Given the description of an element on the screen output the (x, y) to click on. 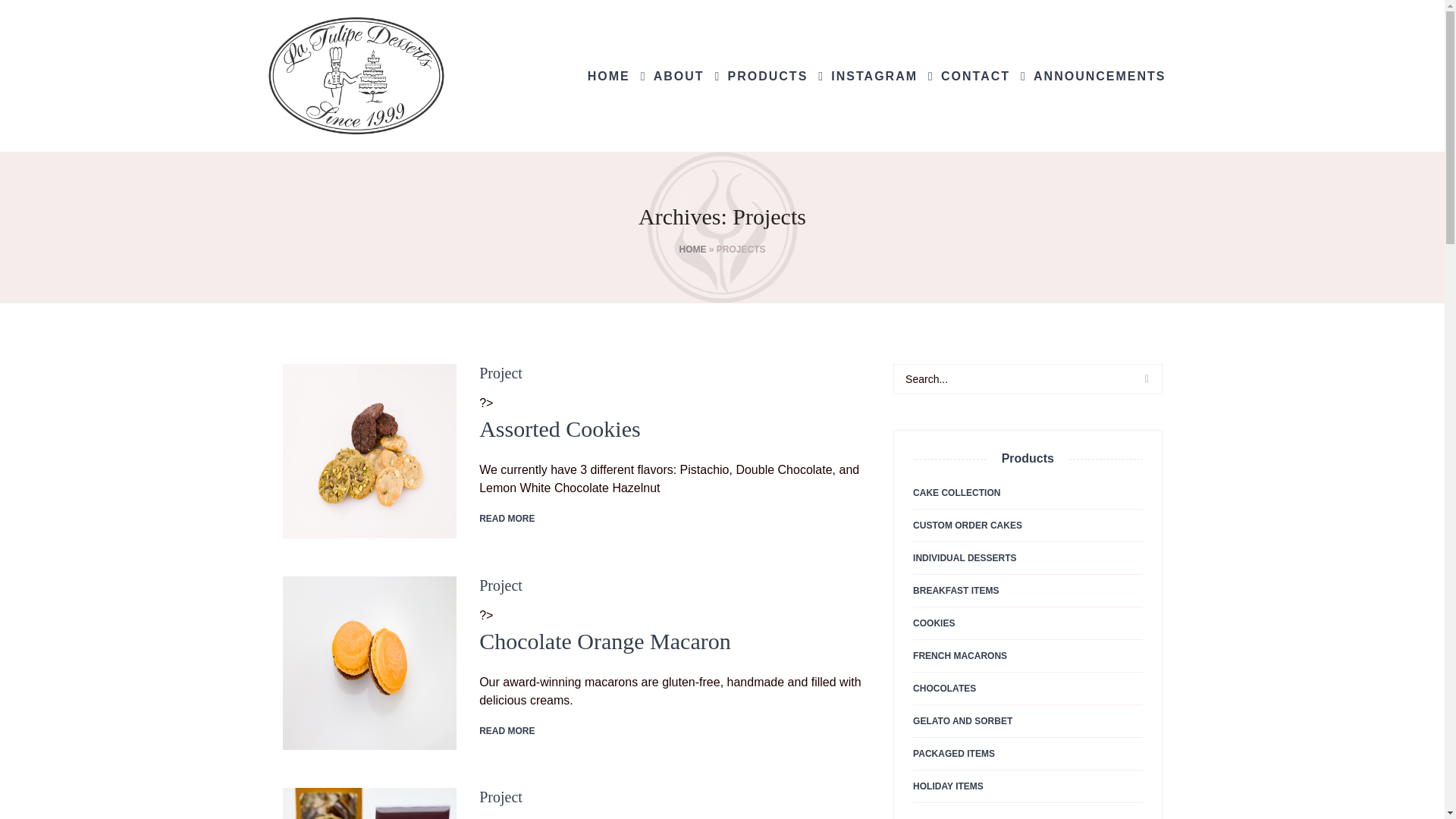
INSTAGRAM (874, 75)
HOME (608, 75)
Assorted Cookies (369, 450)
PRODUCTS (767, 75)
Chocolate Orange Macaron (604, 640)
CONTACT (975, 75)
READ MORE (506, 730)
Chocolate Orange Macaron (369, 663)
Caramels (369, 803)
ABOUT (678, 75)
Assorted Cookies (559, 428)
ANNOUNCEMENTS (1099, 75)
READ MORE (506, 518)
HOME (692, 249)
